Given the description of an element on the screen output the (x, y) to click on. 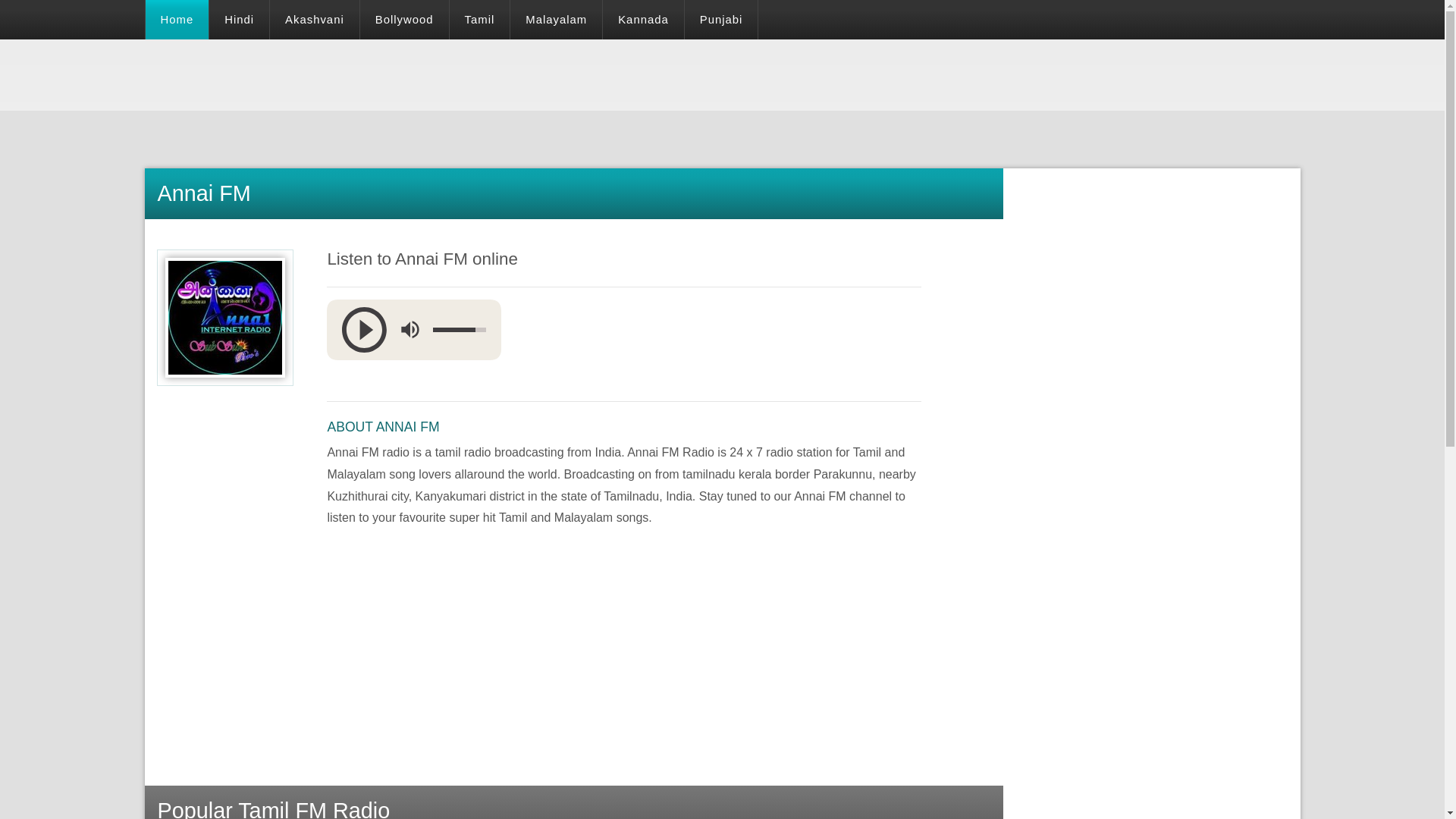
Bollywood (403, 19)
Tamil (480, 19)
Hindi (239, 19)
Kannada (643, 19)
Malayalam (556, 19)
Advertisement (447, 379)
Punjabi (721, 19)
Home (177, 19)
Advertisement (419, 73)
